Given the description of an element on the screen output the (x, y) to click on. 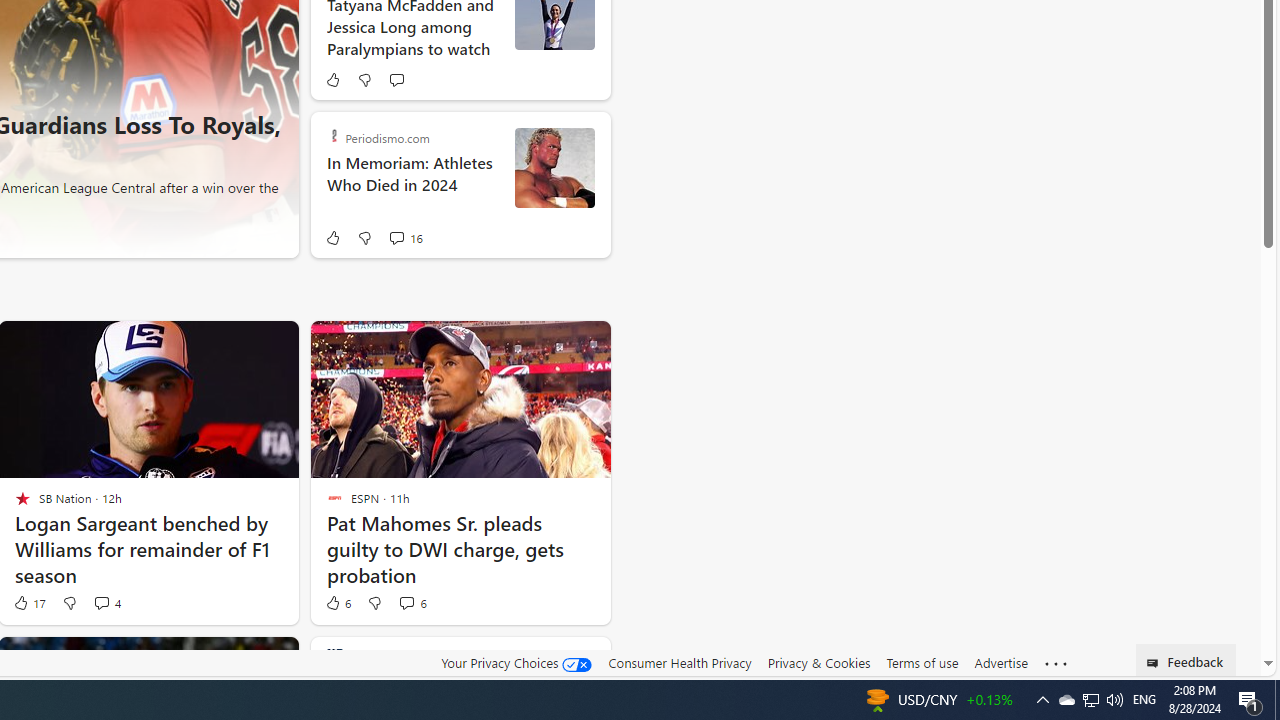
Class: oneFooter_seeMore-DS-EntryPoint1-1 (1055, 663)
View comments 4 Comment (106, 601)
